Given the description of an element on the screen output the (x, y) to click on. 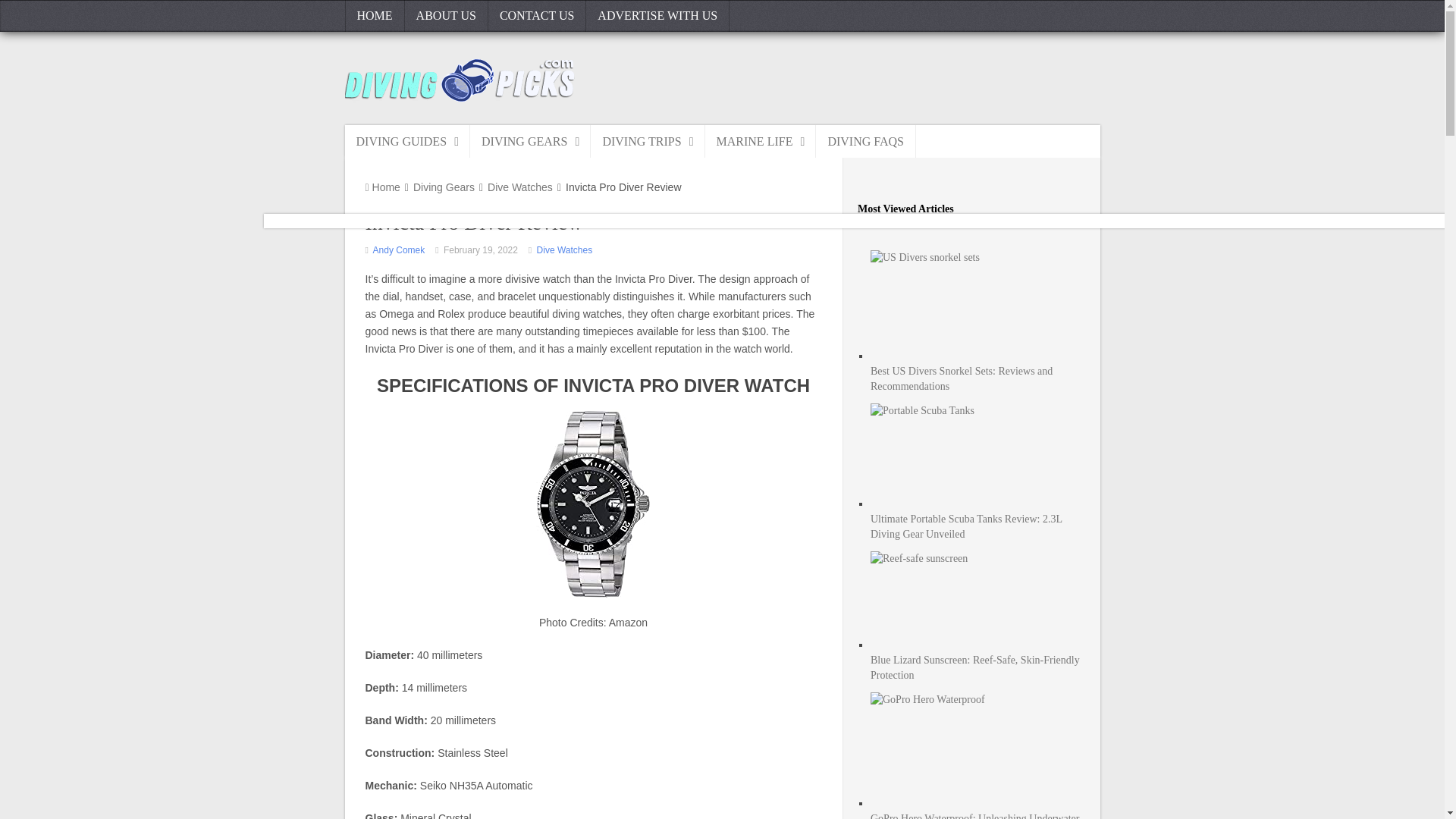
Andy Comek (398, 249)
HOME (373, 15)
Dive Watches (520, 186)
DIVING TRIPS (647, 141)
Posts by Andy Comek (398, 249)
ABOUT US (445, 15)
MARINE LIFE (760, 141)
ADVERTISE WITH US (657, 15)
DIVING FAQS (865, 141)
Diving Gears (443, 186)
